Given the description of an element on the screen output the (x, y) to click on. 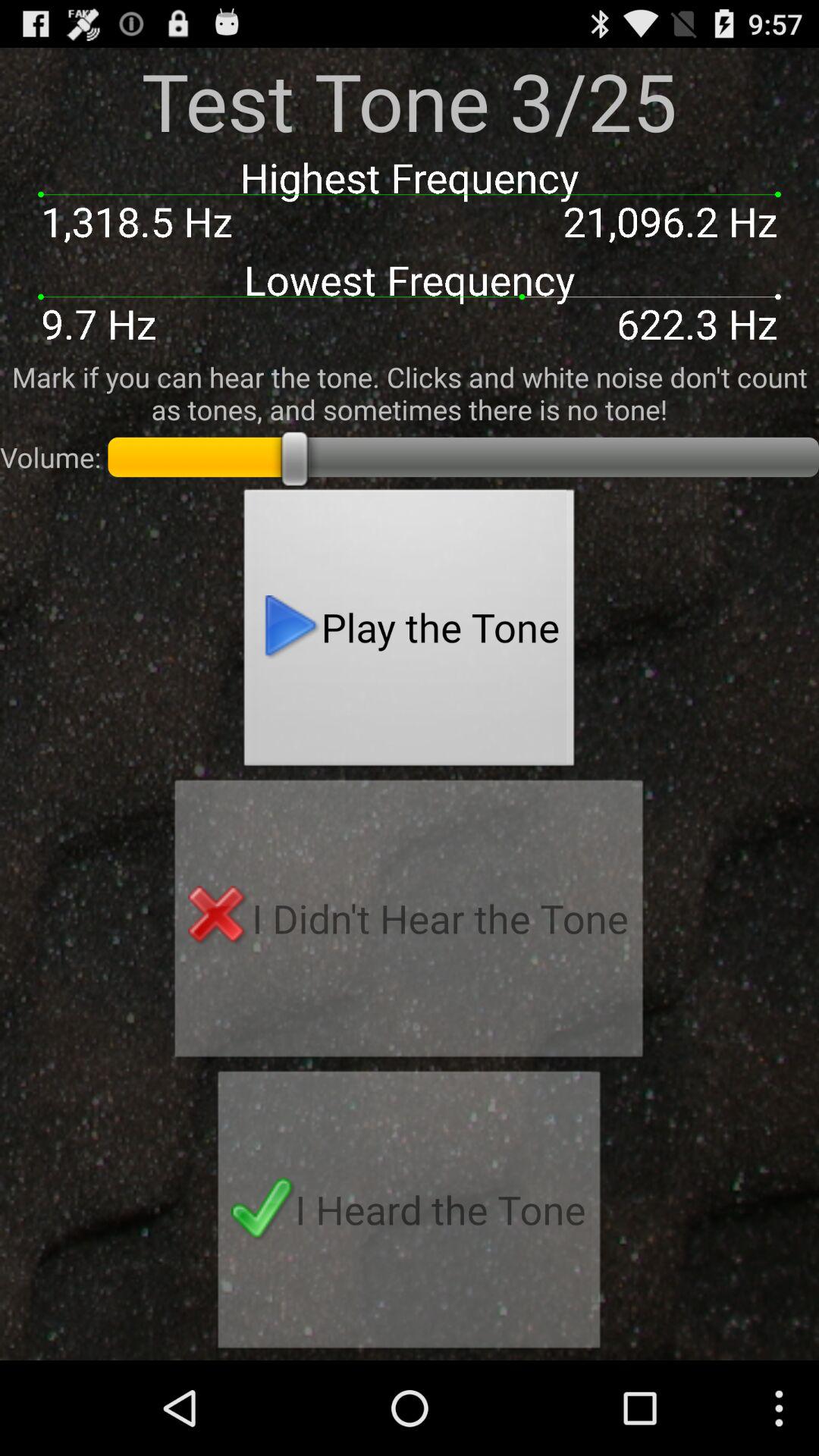
press the icon above i heard the icon (409, 922)
